Given the description of an element on the screen output the (x, y) to click on. 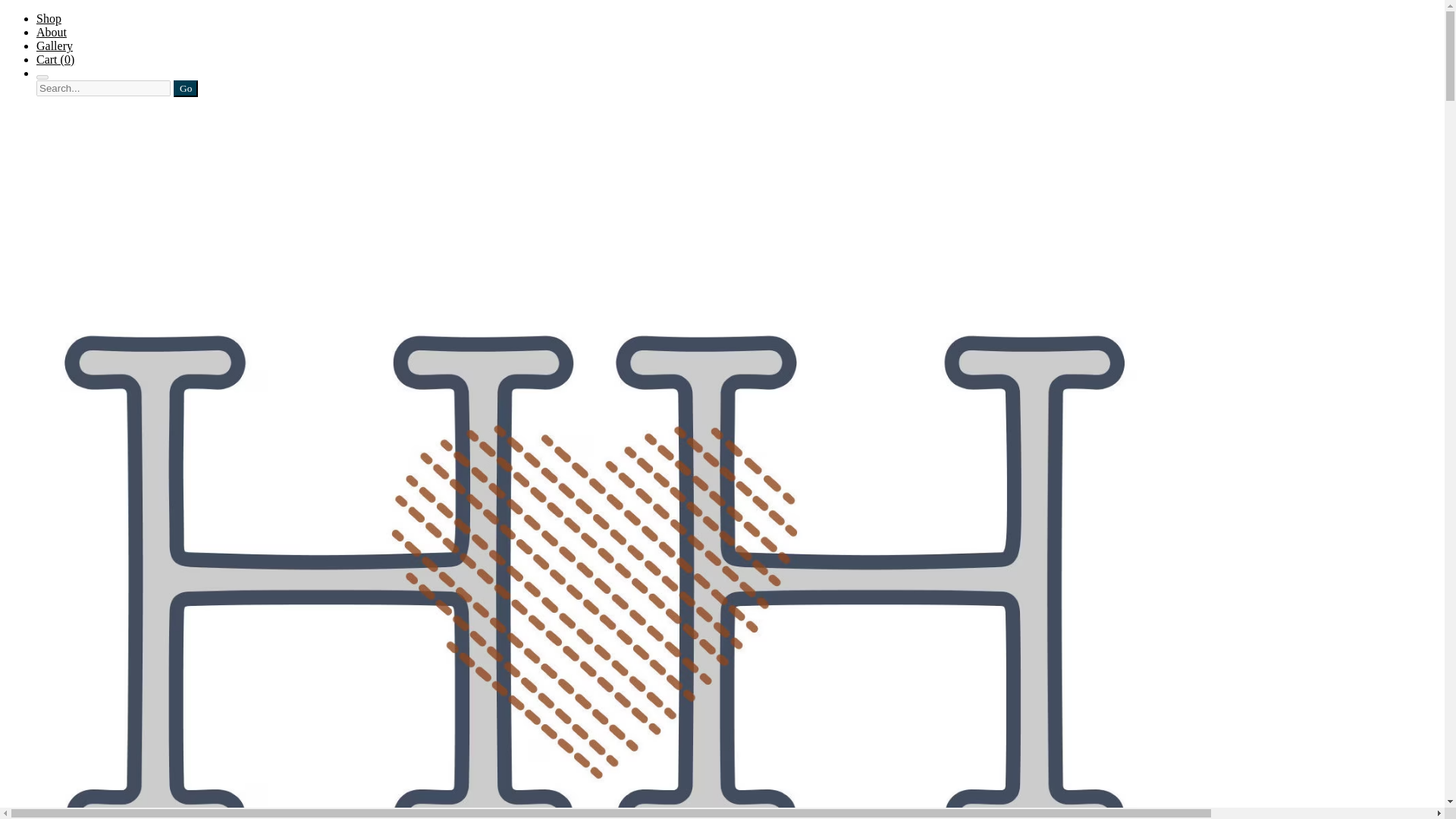
Shop (48, 18)
Go (185, 88)
About (51, 31)
Go (185, 88)
Gallery (54, 45)
